Given the description of an element on the screen output the (x, y) to click on. 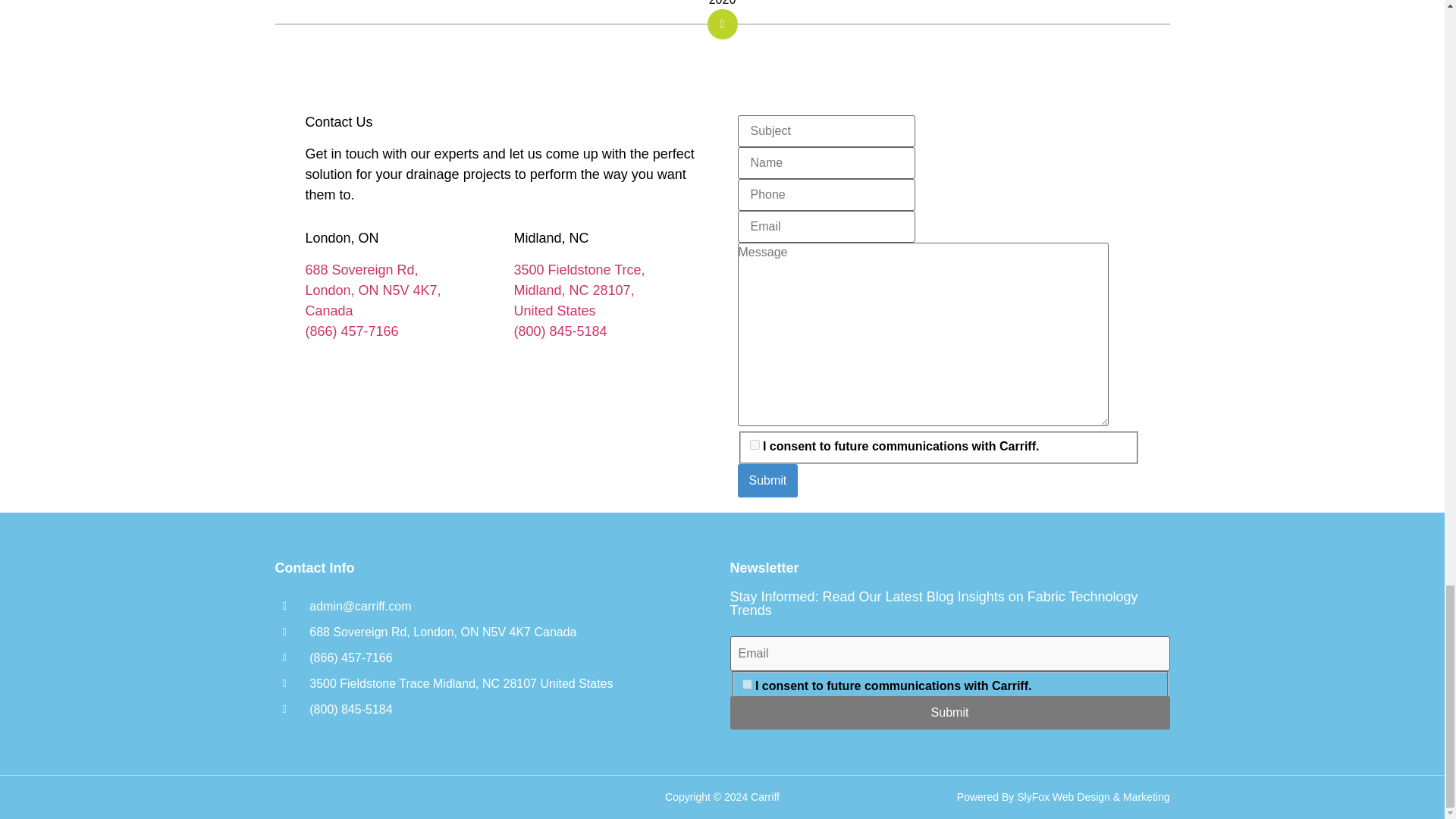
1 (753, 444)
1 (746, 684)
Submit (766, 480)
Submit (949, 712)
